Given the description of an element on the screen output the (x, y) to click on. 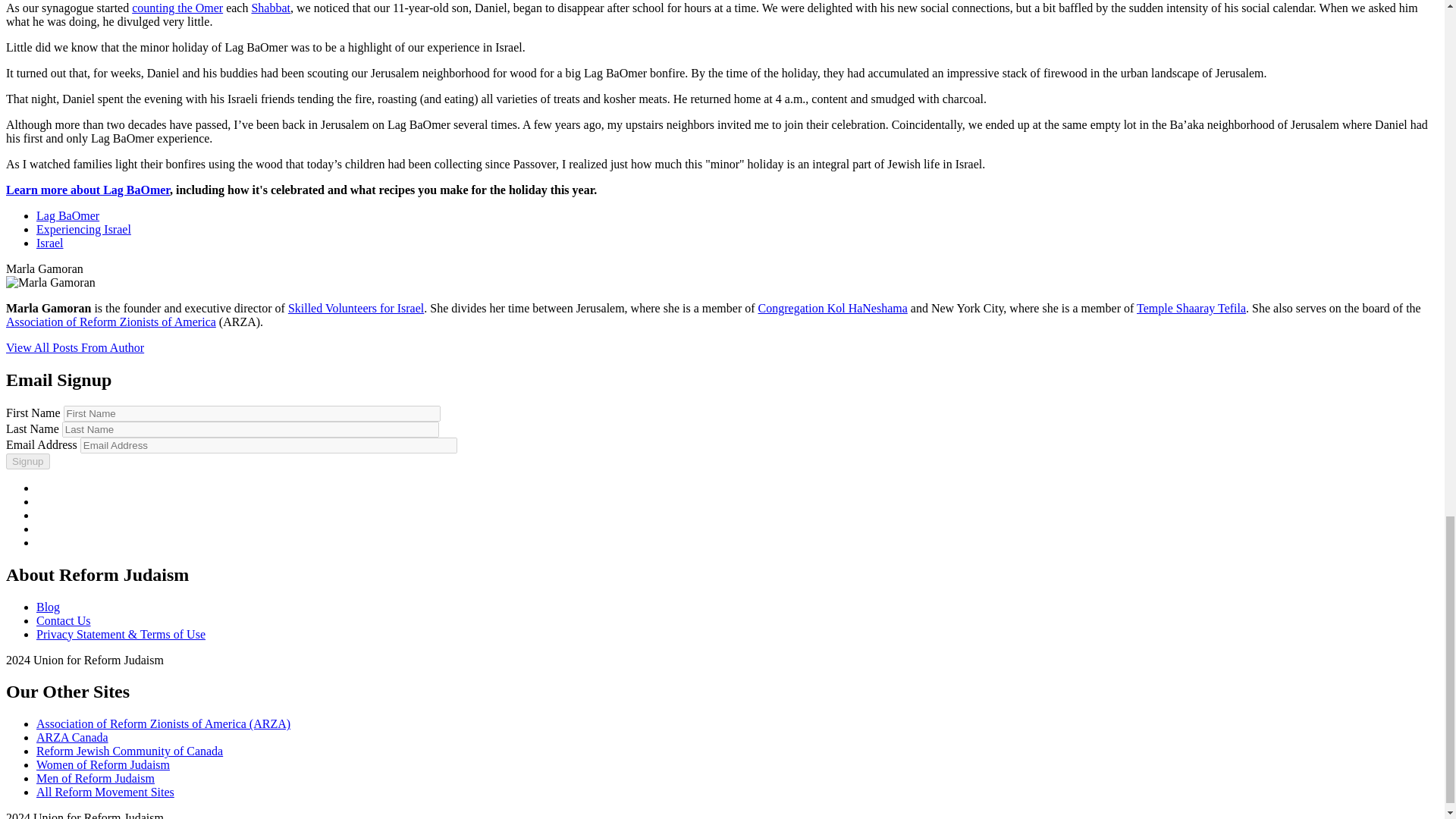
Signup (27, 461)
